Given the description of an element on the screen output the (x, y) to click on. 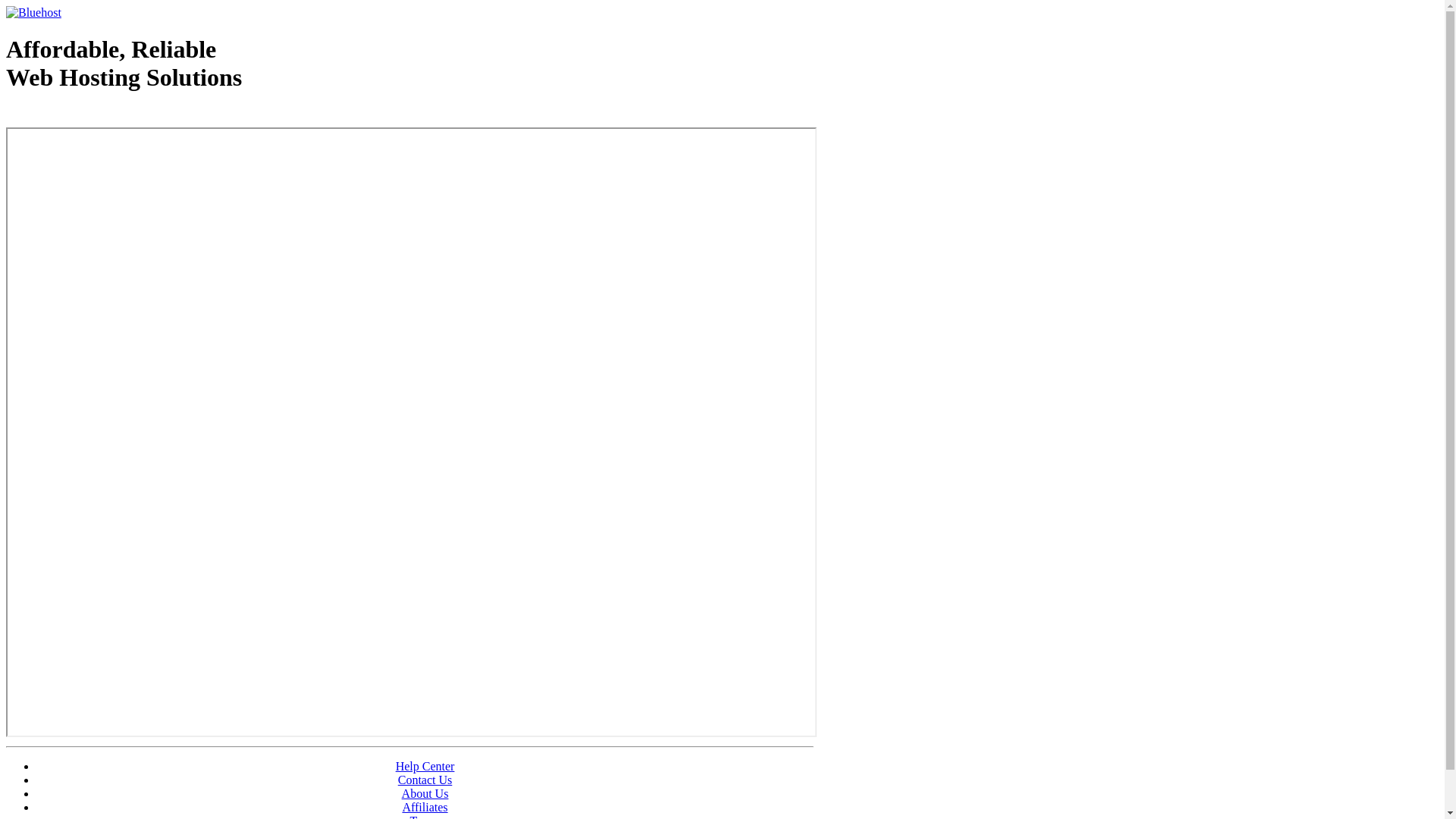
Affiliates Element type: text (424, 806)
About Us Element type: text (424, 793)
Contact Us Element type: text (425, 779)
Web Hosting - courtesy of www.bluehost.com Element type: text (94, 115)
Help Center Element type: text (425, 765)
